Given the description of an element on the screen output the (x, y) to click on. 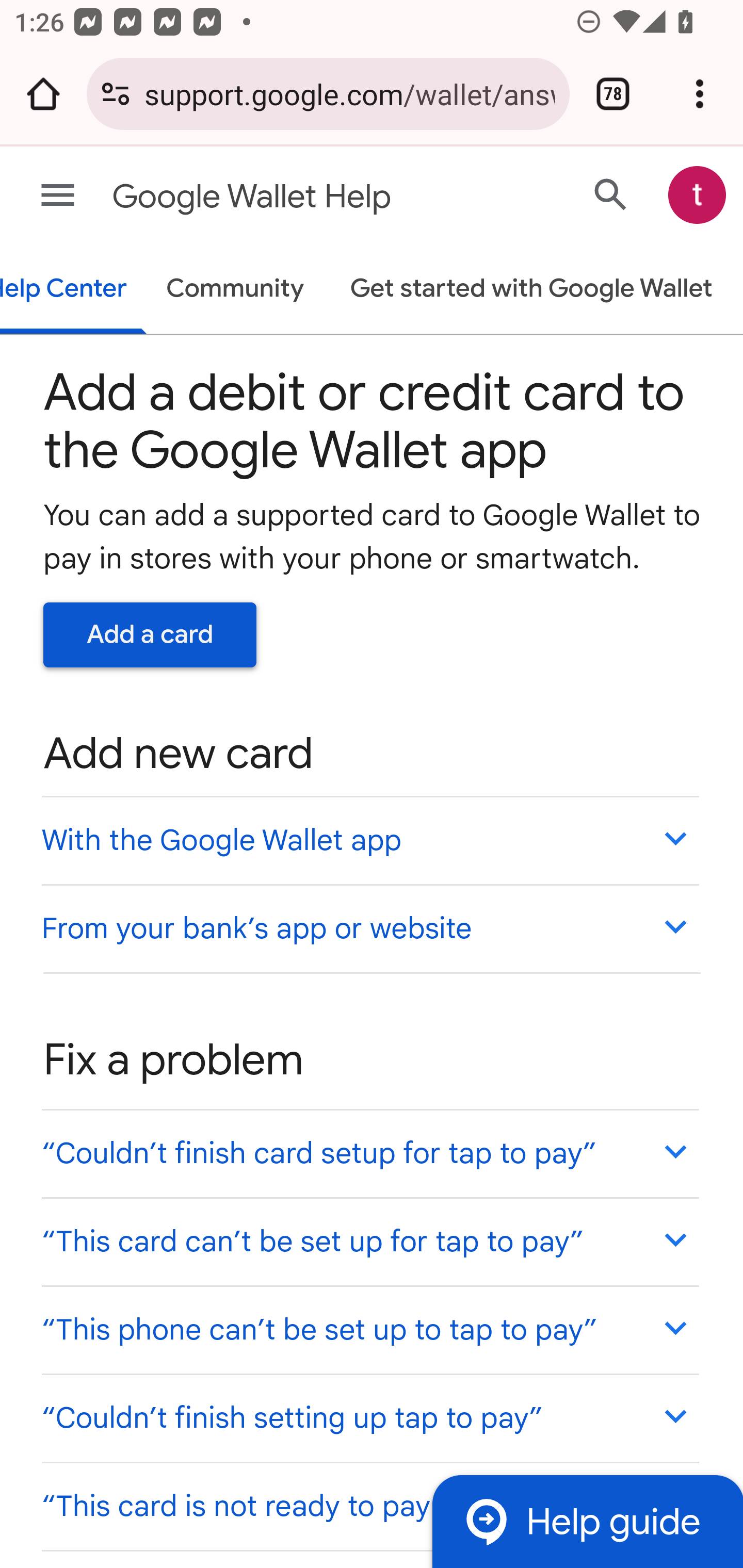
Open the home page (43, 93)
Connection is secure (115, 93)
Switch or close tabs (612, 93)
Customize and control Google Chrome (699, 93)
Main menu (58, 195)
Google Wallet Help (292, 197)
Search Help Center (611, 194)
Help Center (73, 289)
Community (235, 289)
Get started with Google Wallet (530, 289)
Add a card (150, 633)
With the Google Wallet app (369, 839)
From your bank’s app or website (369, 927)
“Couldn’t finish card setup for tap to pay” (369, 1152)
“This card can’t be set up for tap to pay” (369, 1240)
“This phone can’t be set up to tap to pay” (369, 1329)
“Couldn’t finish setting up tap to pay” (369, 1417)
“This card is not ready to pay online” (369, 1504)
Help guide (587, 1520)
